Given the description of an element on the screen output the (x, y) to click on. 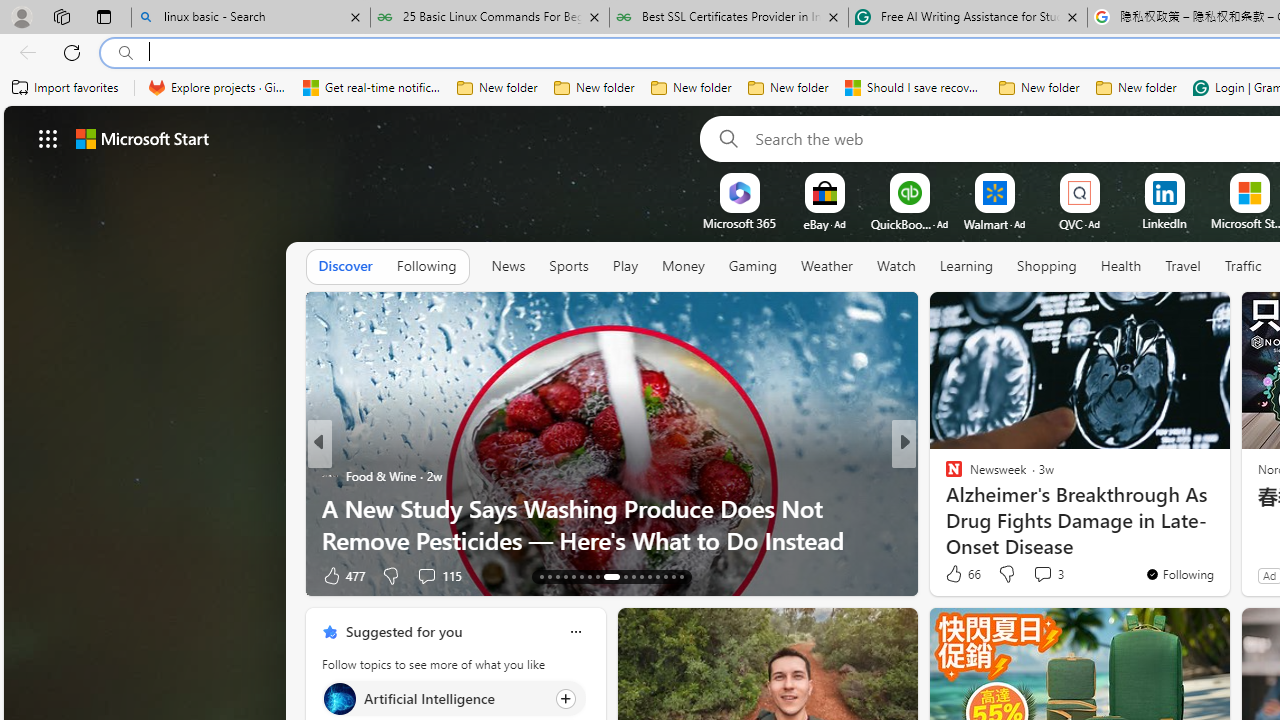
TODAY (329, 475)
Traffic (1243, 265)
962 Like (342, 574)
AutomationID: tab-24 (641, 576)
Traffic (1242, 267)
AutomationID: tab-19 (588, 576)
View comments 3 Comment (1048, 574)
Best SSL Certificates Provider in India - GeeksforGeeks (729, 17)
55 Like (956, 574)
AutomationID: tab-20 (596, 576)
LinkedIn (1163, 223)
Body Network (944, 475)
